Given the description of an element on the screen output the (x, y) to click on. 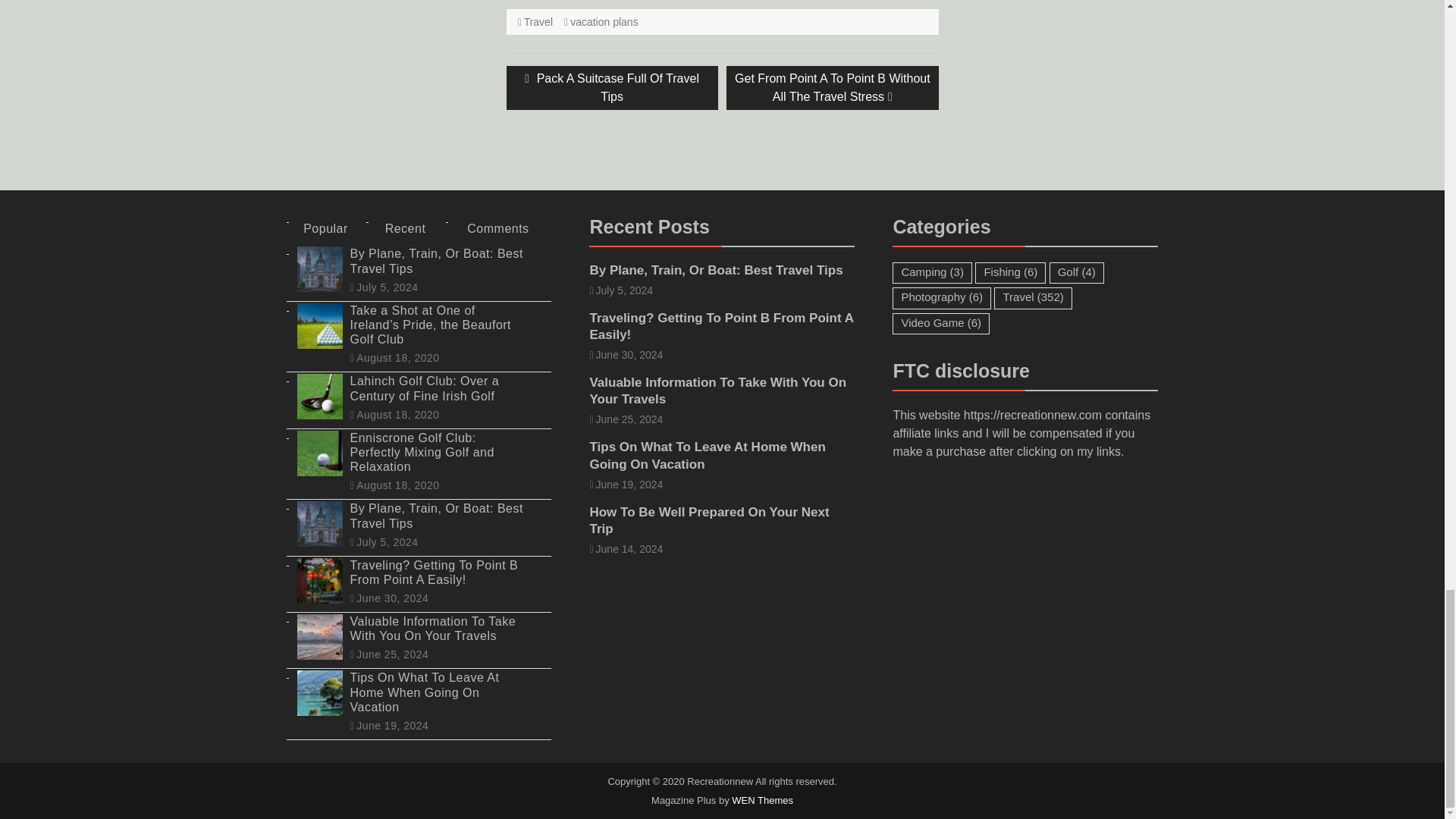
vacation plans (604, 21)
Travel (611, 87)
